Given the description of an element on the screen output the (x, y) to click on. 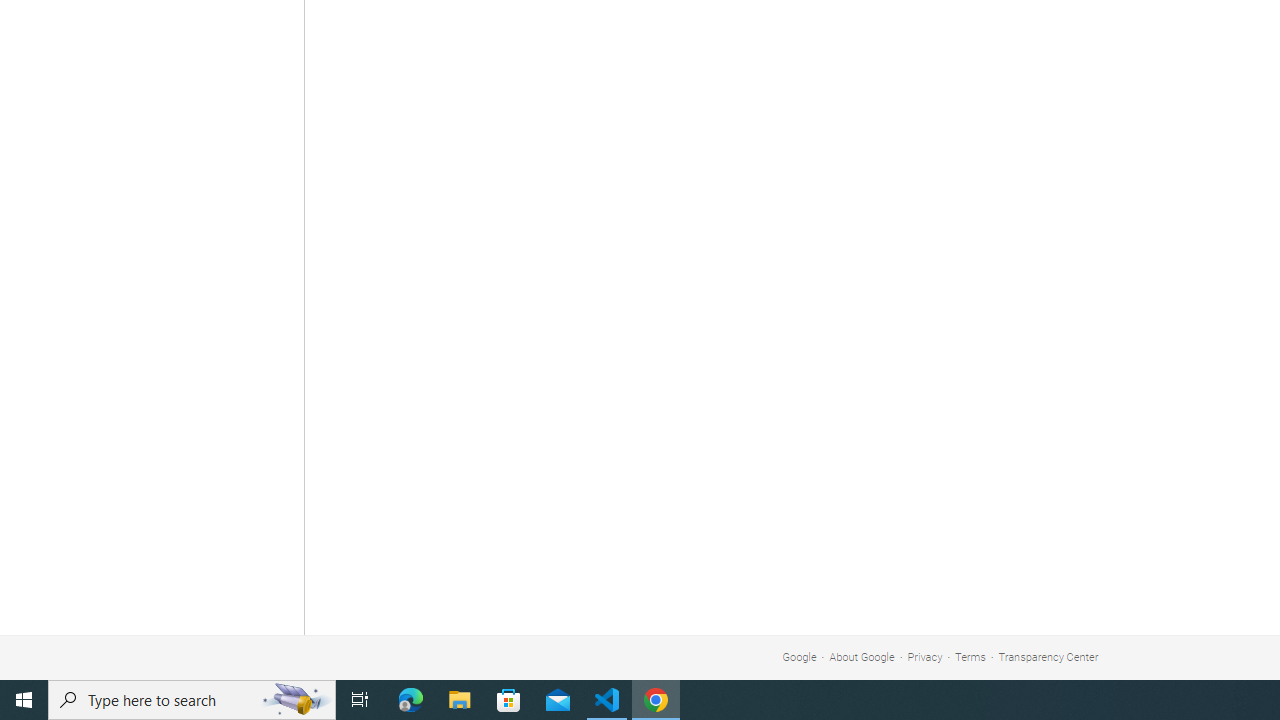
Transparency Center (1048, 656)
About Google (861, 656)
